Given the description of an element on the screen output the (x, y) to click on. 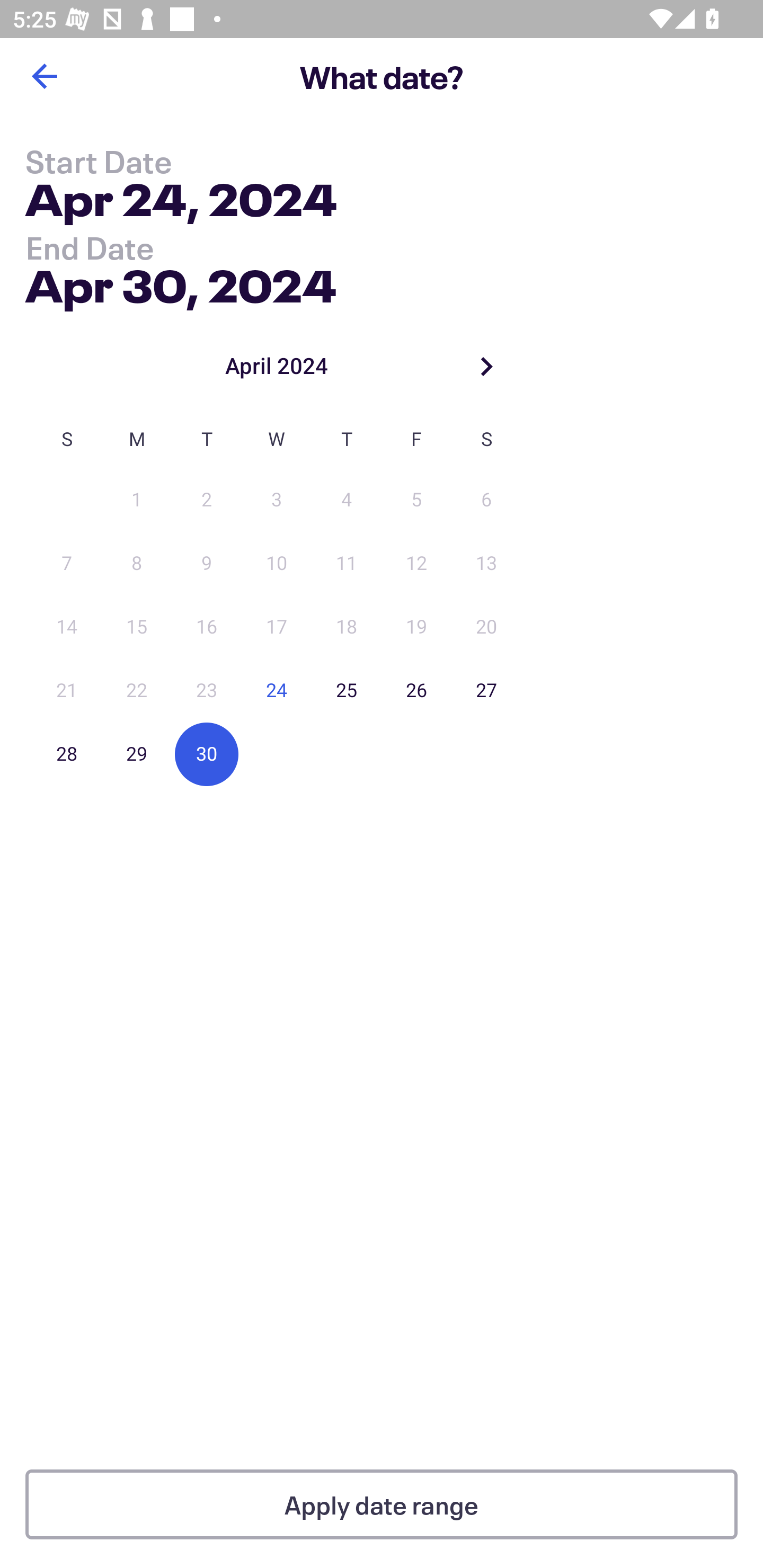
Back button (44, 75)
Apr 24, 2024 (181, 203)
Apr 30, 2024 (180, 282)
Next month (486, 365)
1 01 April 2024 (136, 499)
2 02 April 2024 (206, 499)
3 03 April 2024 (276, 499)
4 04 April 2024 (346, 499)
5 05 April 2024 (416, 499)
6 06 April 2024 (486, 499)
7 07 April 2024 (66, 563)
8 08 April 2024 (136, 563)
9 09 April 2024 (206, 563)
10 10 April 2024 (276, 563)
11 11 April 2024 (346, 563)
12 12 April 2024 (416, 563)
13 13 April 2024 (486, 563)
14 14 April 2024 (66, 626)
15 15 April 2024 (136, 626)
16 16 April 2024 (206, 626)
17 17 April 2024 (276, 626)
18 18 April 2024 (346, 626)
19 19 April 2024 (416, 626)
20 20 April 2024 (486, 626)
21 21 April 2024 (66, 690)
22 22 April 2024 (136, 690)
23 23 April 2024 (206, 690)
24 24 April 2024 (276, 690)
25 25 April 2024 (346, 690)
26 26 April 2024 (416, 690)
27 27 April 2024 (486, 690)
28 28 April 2024 (66, 753)
29 29 April 2024 (136, 753)
30 30 April 2024 (206, 753)
Apply date range (381, 1504)
